Given the description of an element on the screen output the (x, y) to click on. 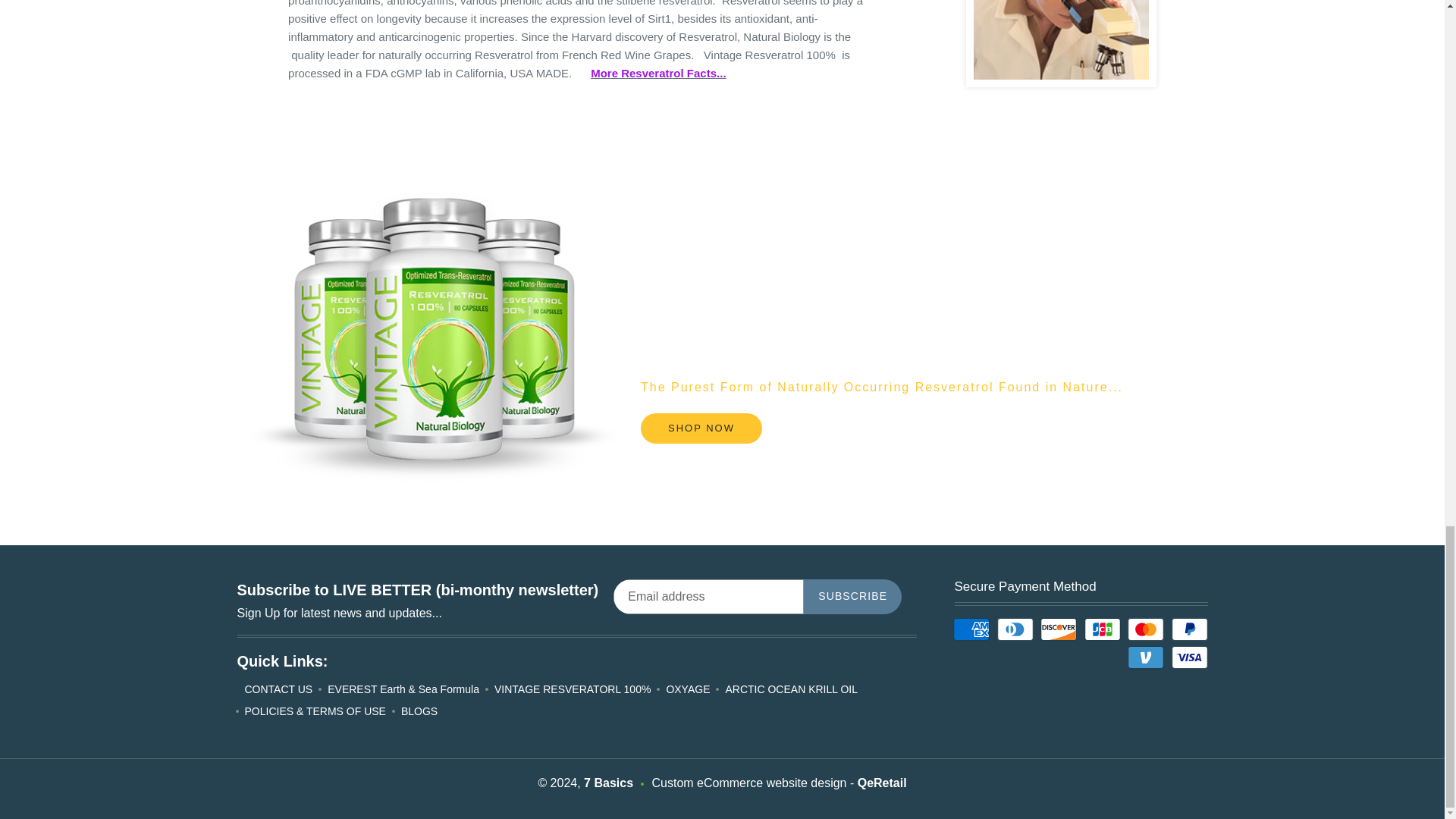
Resveratrol research (658, 72)
